Given the description of an element on the screen output the (x, y) to click on. 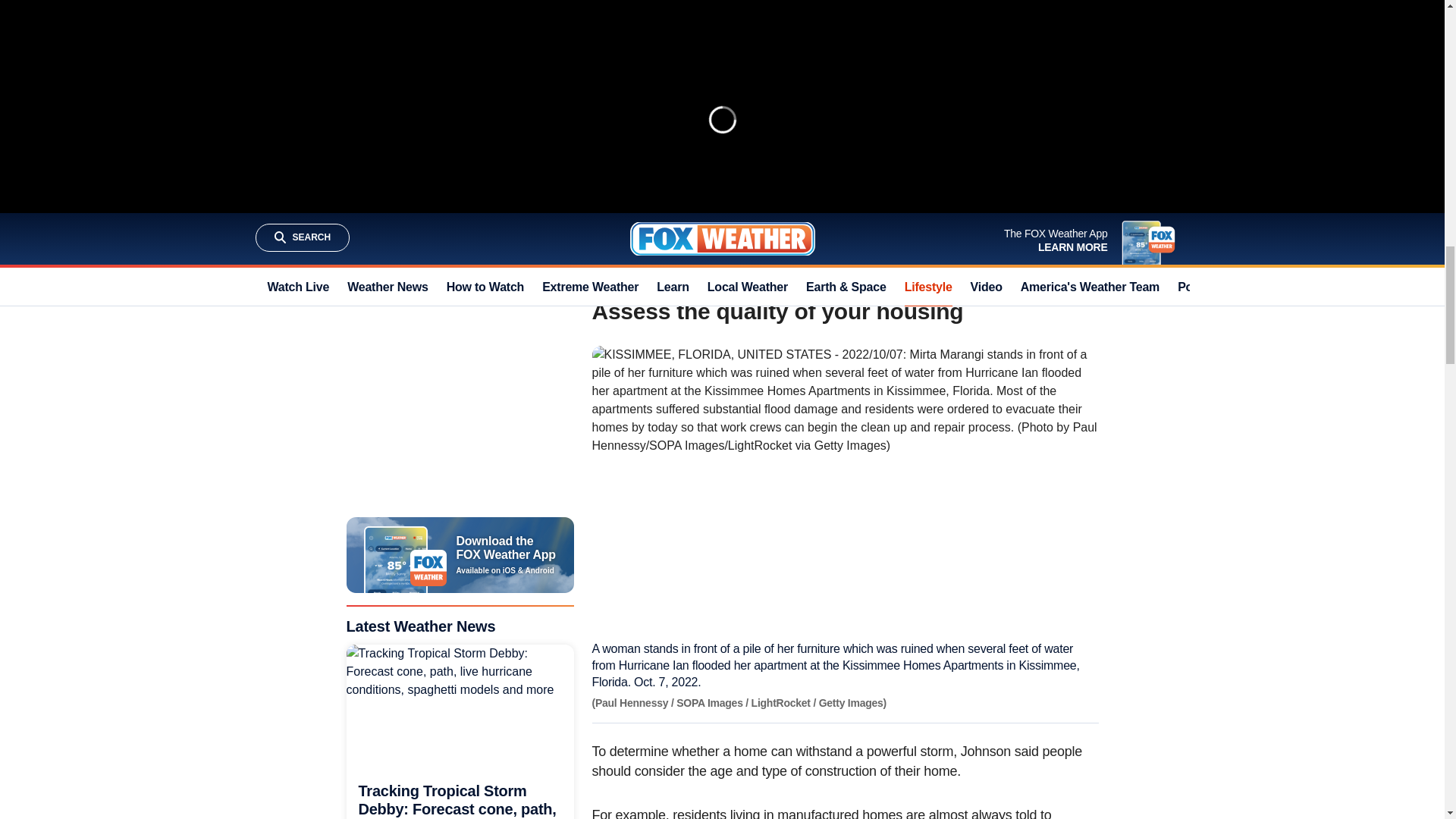
evacuate (980, 157)
WHAT IS MY HURRICANE EVACUATION ZONE? (741, 113)
storm surge (864, 49)
